Given the description of an element on the screen output the (x, y) to click on. 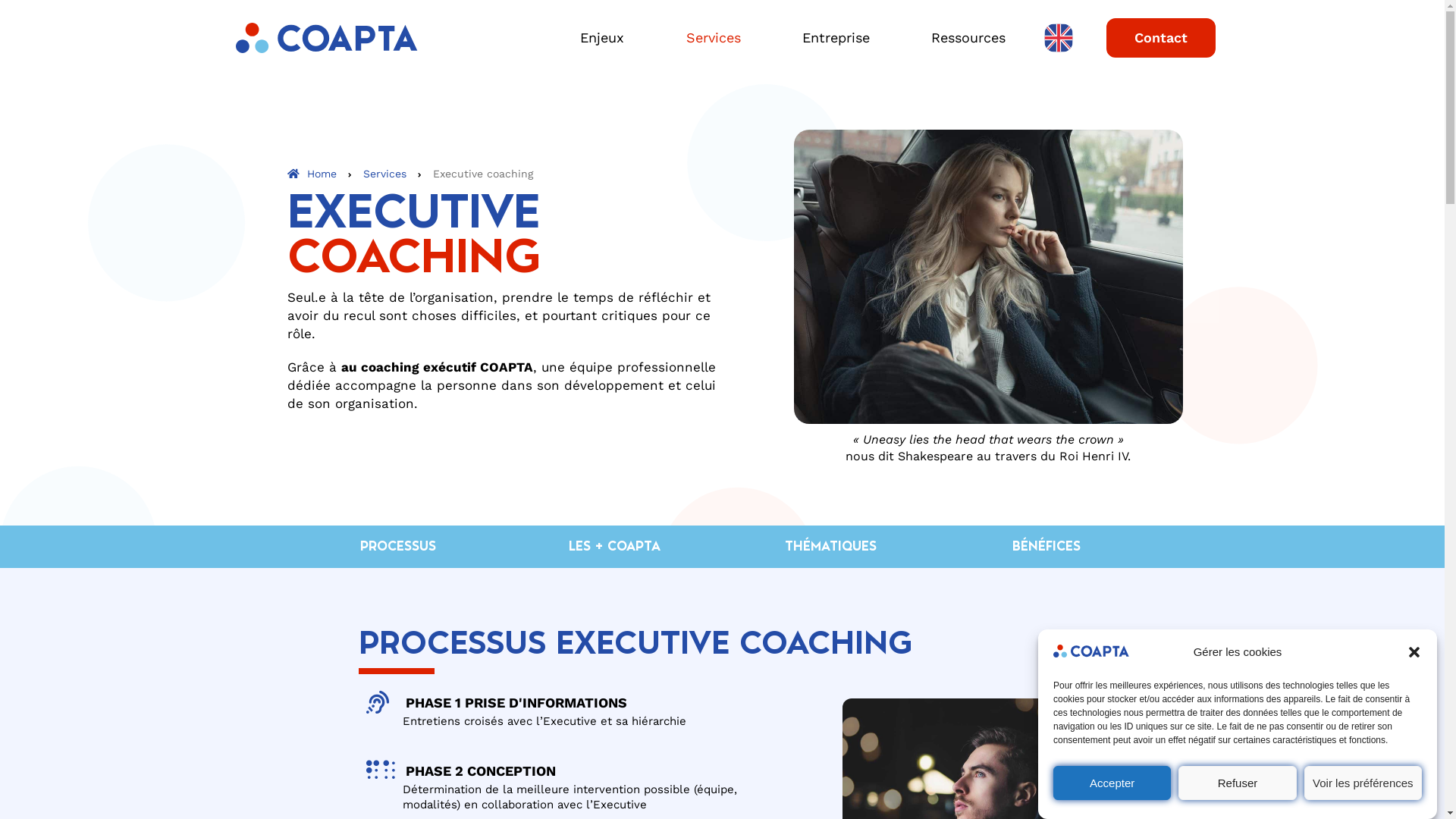
Refuser Element type: text (1236, 782)
Enjeux Element type: text (609, 36)
Contact Element type: text (1160, 37)
Home Element type: text (311, 174)
PROCESSUS Element type: text (397, 546)
Services Element type: text (384, 174)
Services Element type: text (721, 36)
Ressources Element type: text (968, 36)
Entreprise Element type: text (843, 36)
Accepter Element type: text (1111, 782)
LES + COAPTA Element type: text (614, 546)
